Given the description of an element on the screen output the (x, y) to click on. 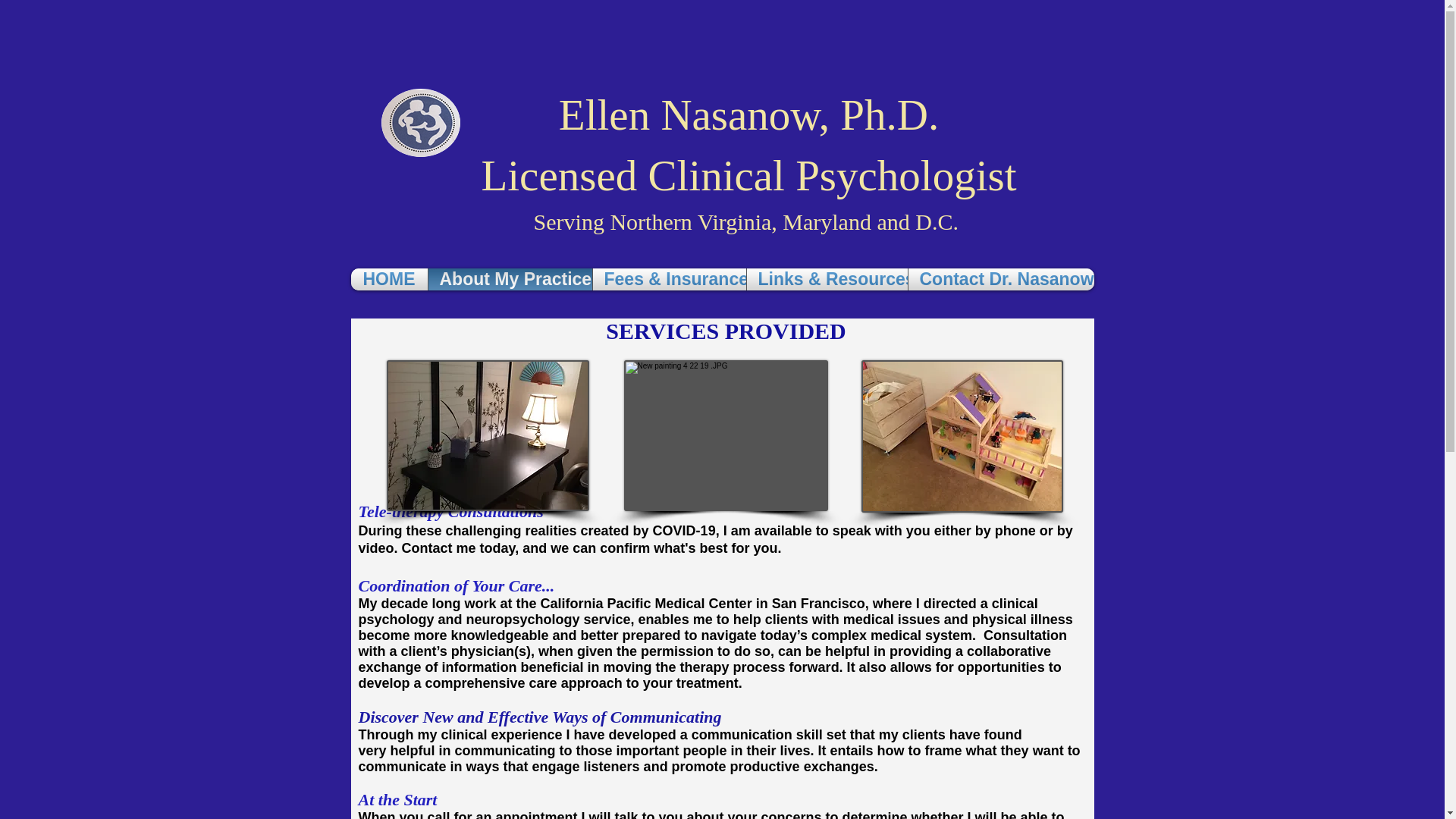
HOME (389, 279)
About My Practice (510, 279)
Contact Dr. Nasanow (1000, 279)
